Given the description of an element on the screen output the (x, y) to click on. 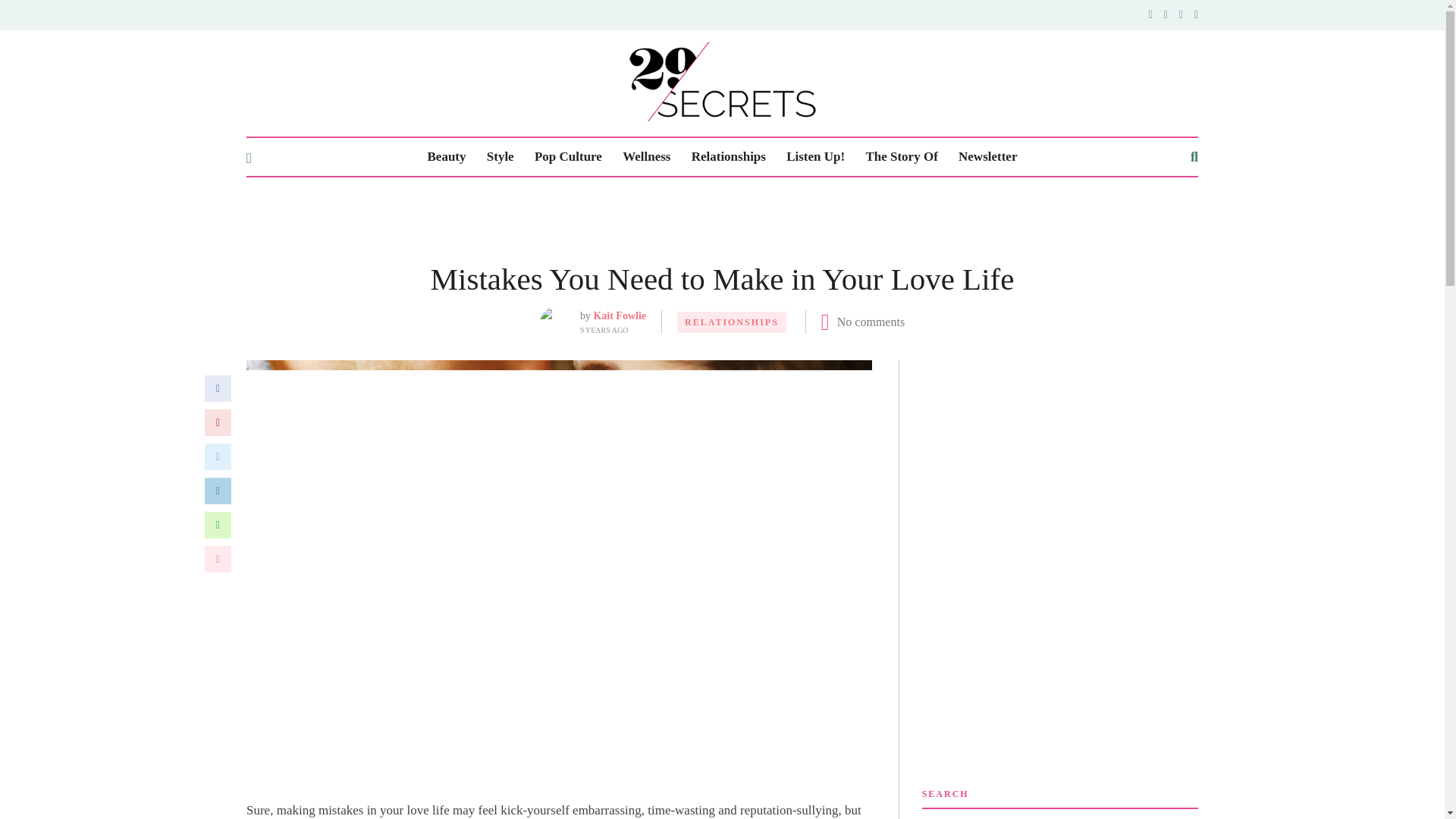
Beauty (446, 157)
Wellness (646, 157)
Kait Fowlie (619, 315)
RELATIONSHIPS (731, 322)
The Story Of (900, 157)
Relationships (728, 157)
29Secrets (721, 81)
Pop Culture (568, 157)
Newsletter (987, 157)
Listen Up! (815, 157)
